Given the description of an element on the screen output the (x, y) to click on. 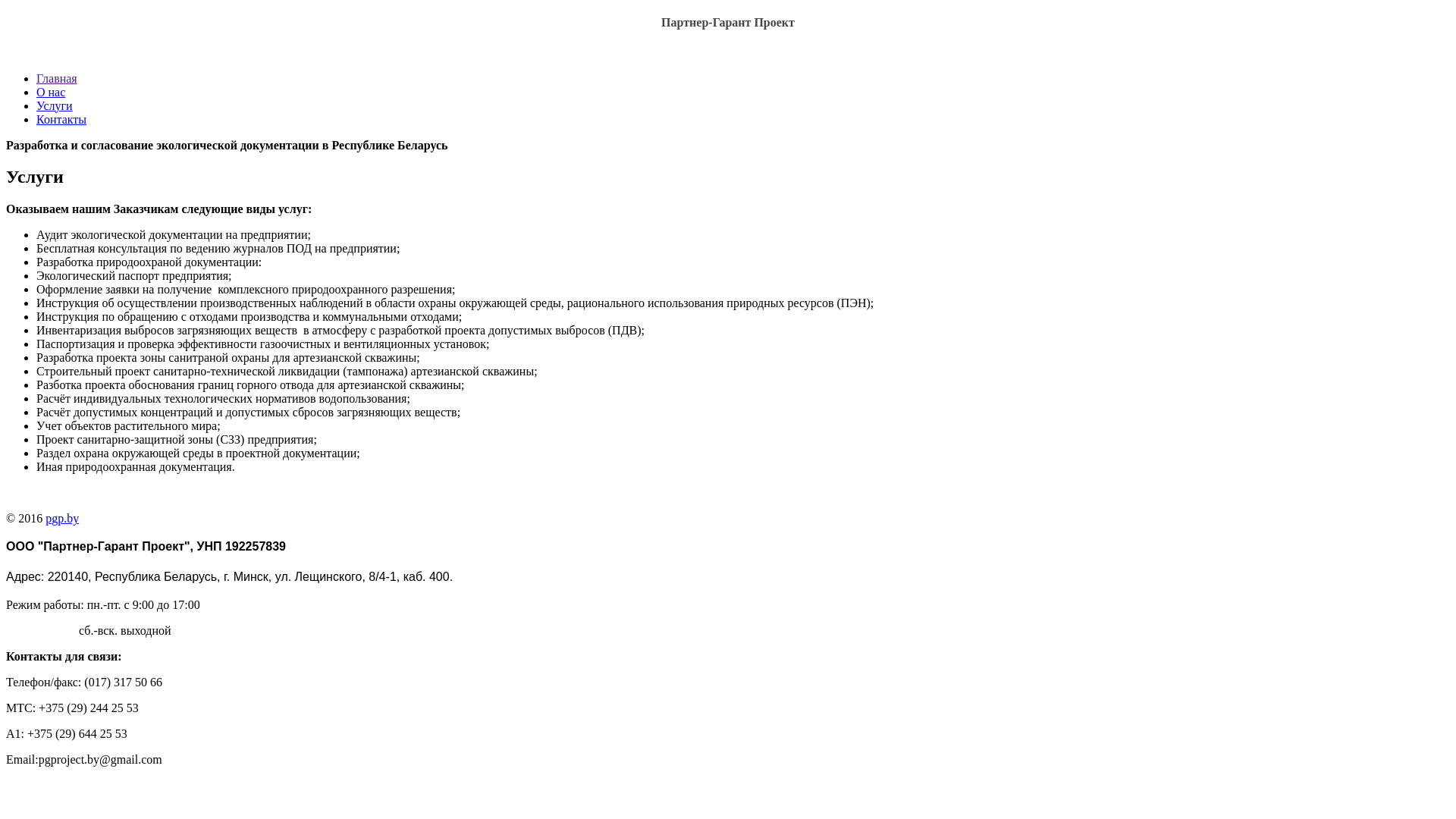
p Element type: text (48, 517)
gp.by Element type: text (64, 517)
